Given the description of an element on the screen output the (x, y) to click on. 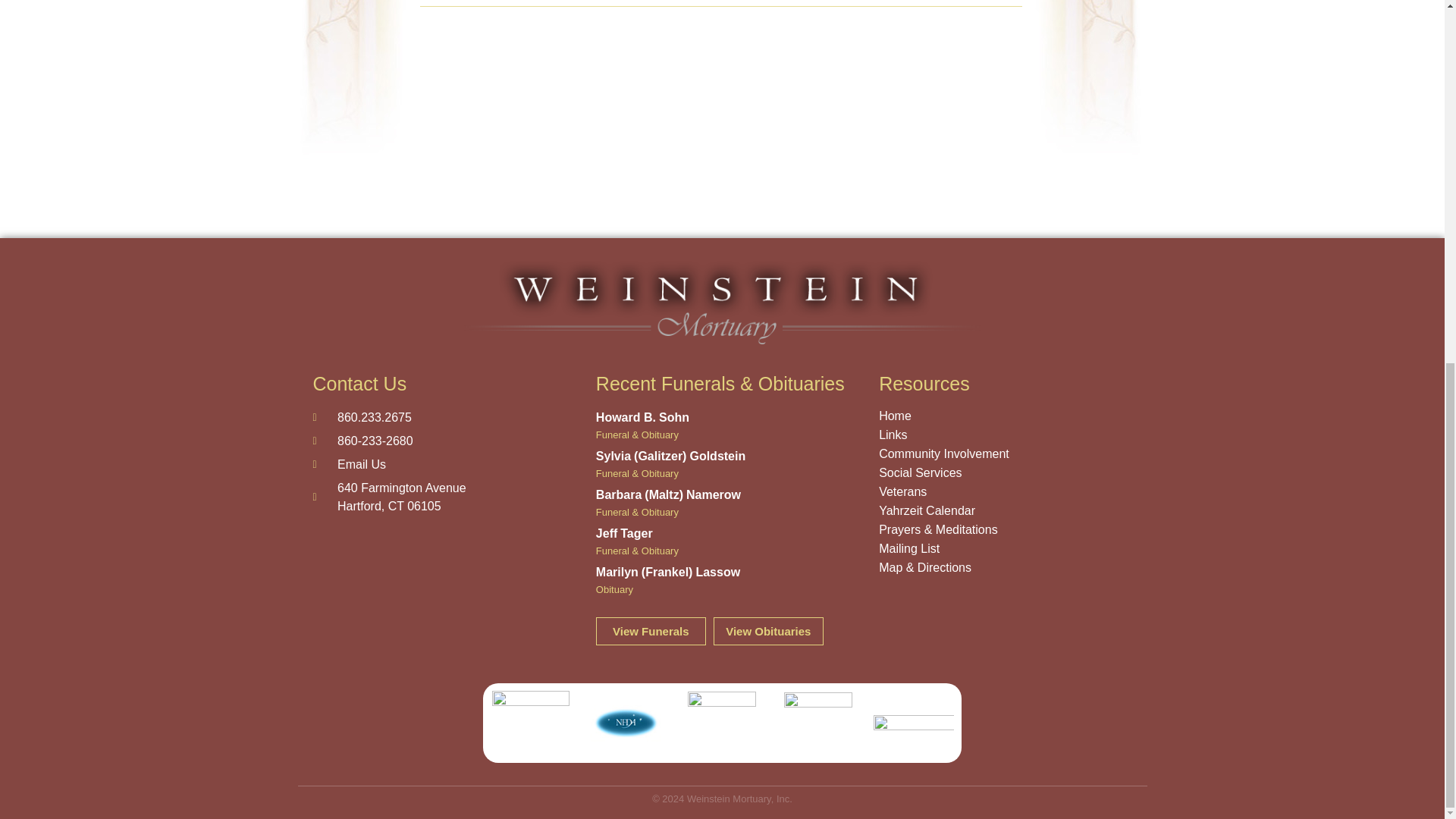
Sylvia (612, 455)
Barbara (618, 494)
Sohn (673, 417)
Jeff (606, 533)
Marilyn (617, 571)
View Funerals (650, 631)
Tager (636, 533)
Email Us (438, 464)
Lassow (438, 497)
Namerow (717, 571)
860.233.2675 (713, 494)
Howard B. (438, 417)
Goldstein (625, 417)
